Given the description of an element on the screen output the (x, y) to click on. 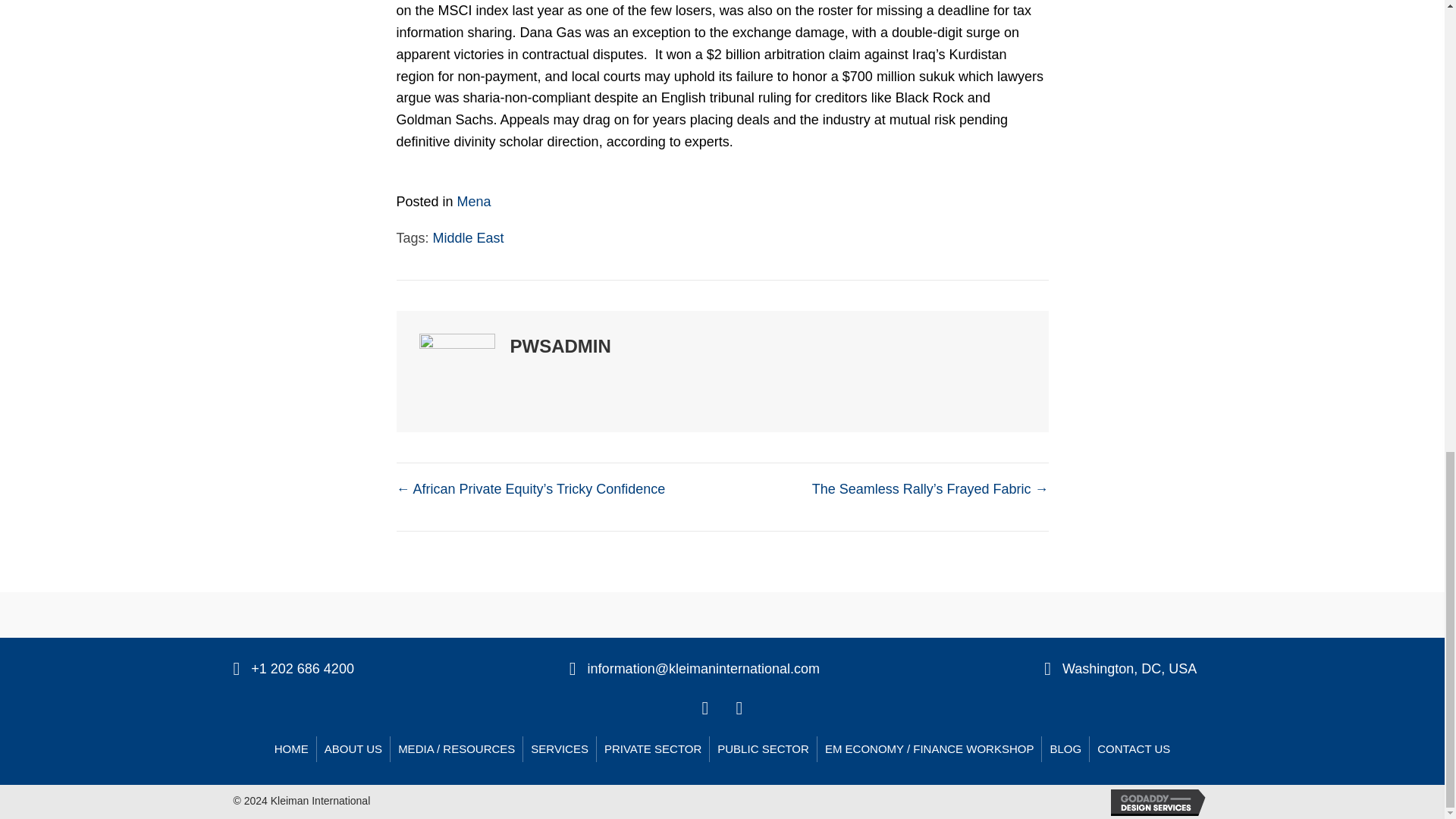
Middle East (467, 237)
Mena (474, 201)
Twitter (739, 706)
LinkedIn (705, 706)
